Given the description of an element on the screen output the (x, y) to click on. 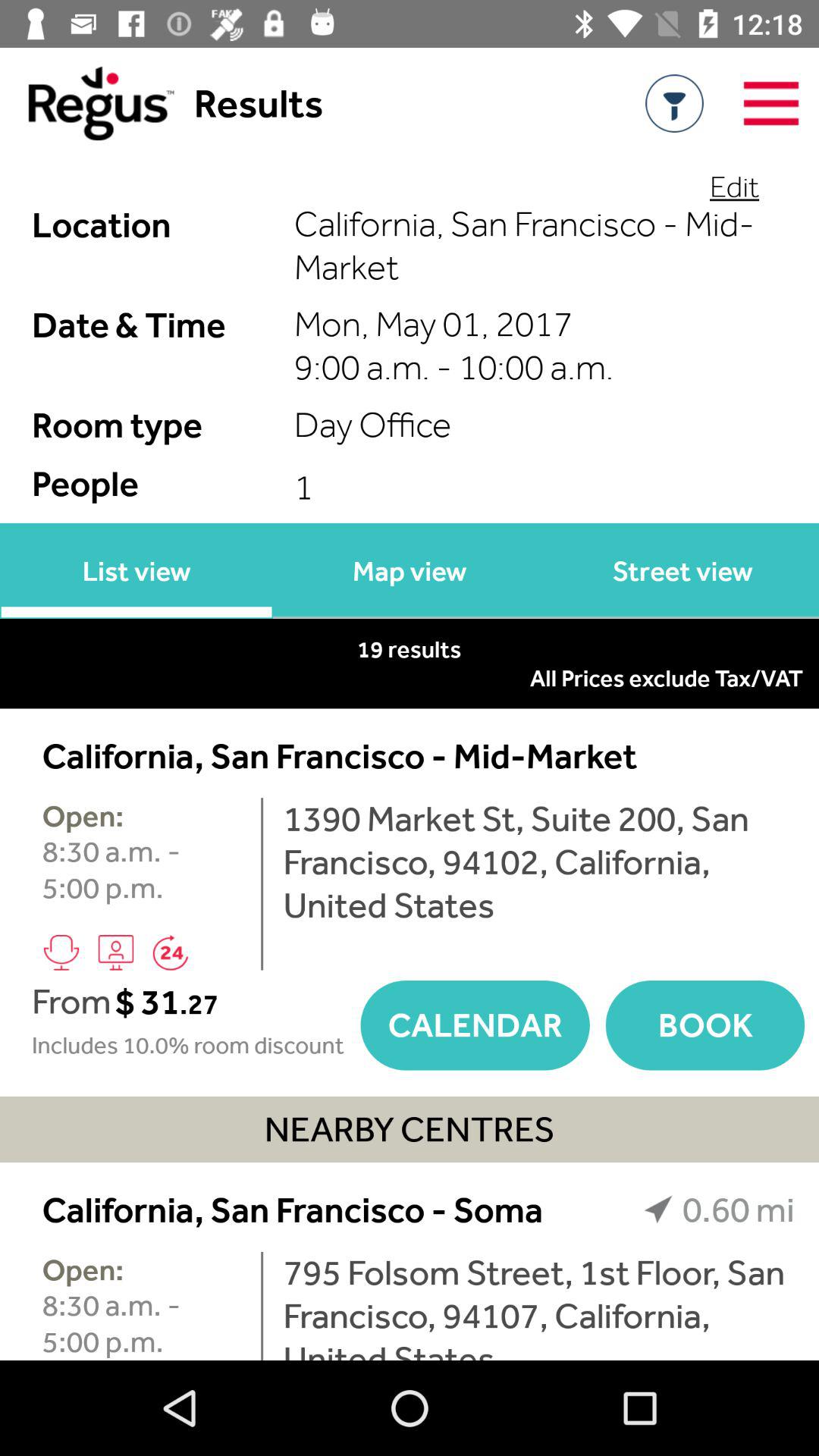
swipe to the from (71, 1001)
